Given the description of an element on the screen output the (x, y) to click on. 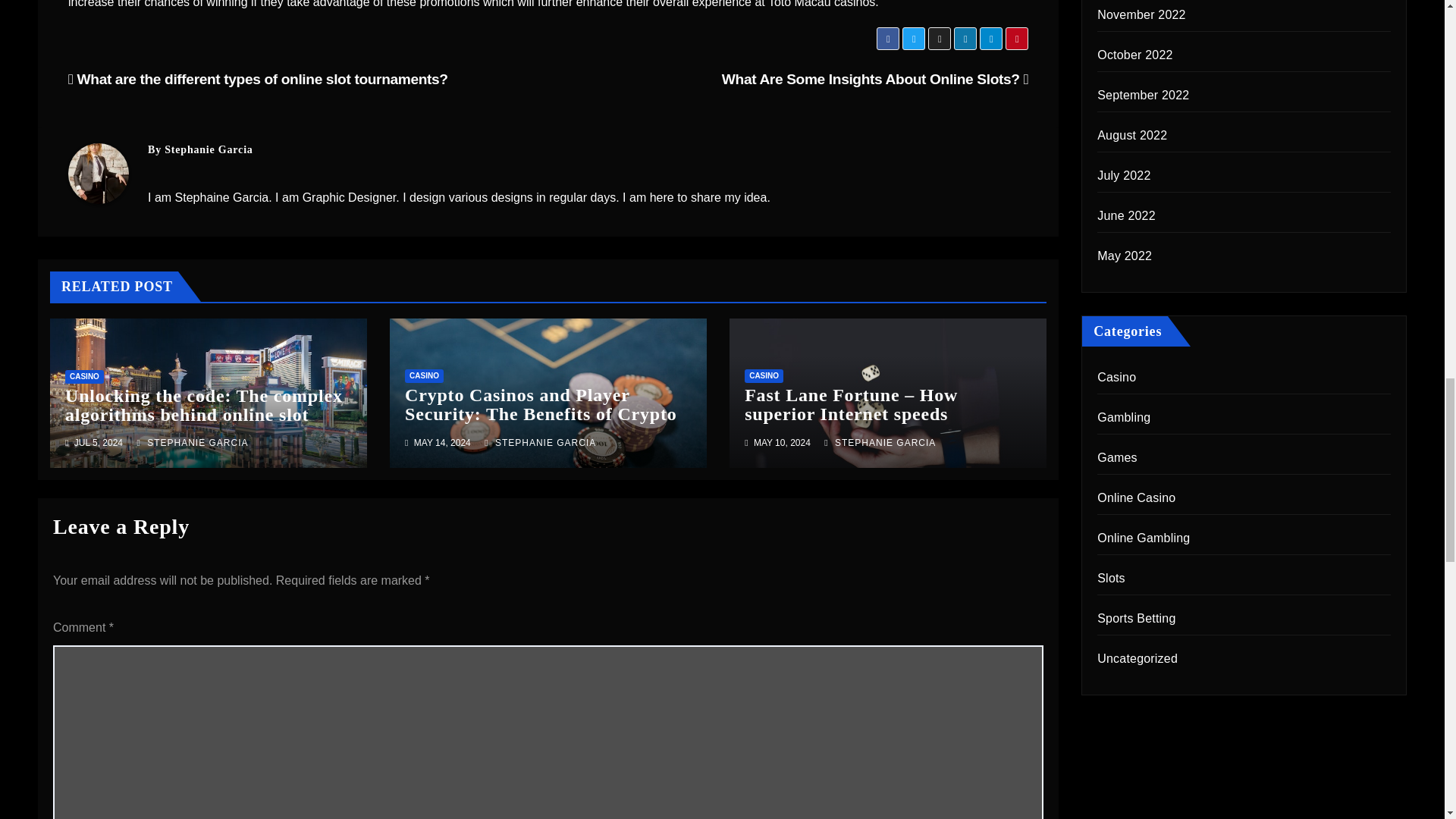
What Are Some Insights About Online Slots? (874, 78)
